Given the description of an element on the screen output the (x, y) to click on. 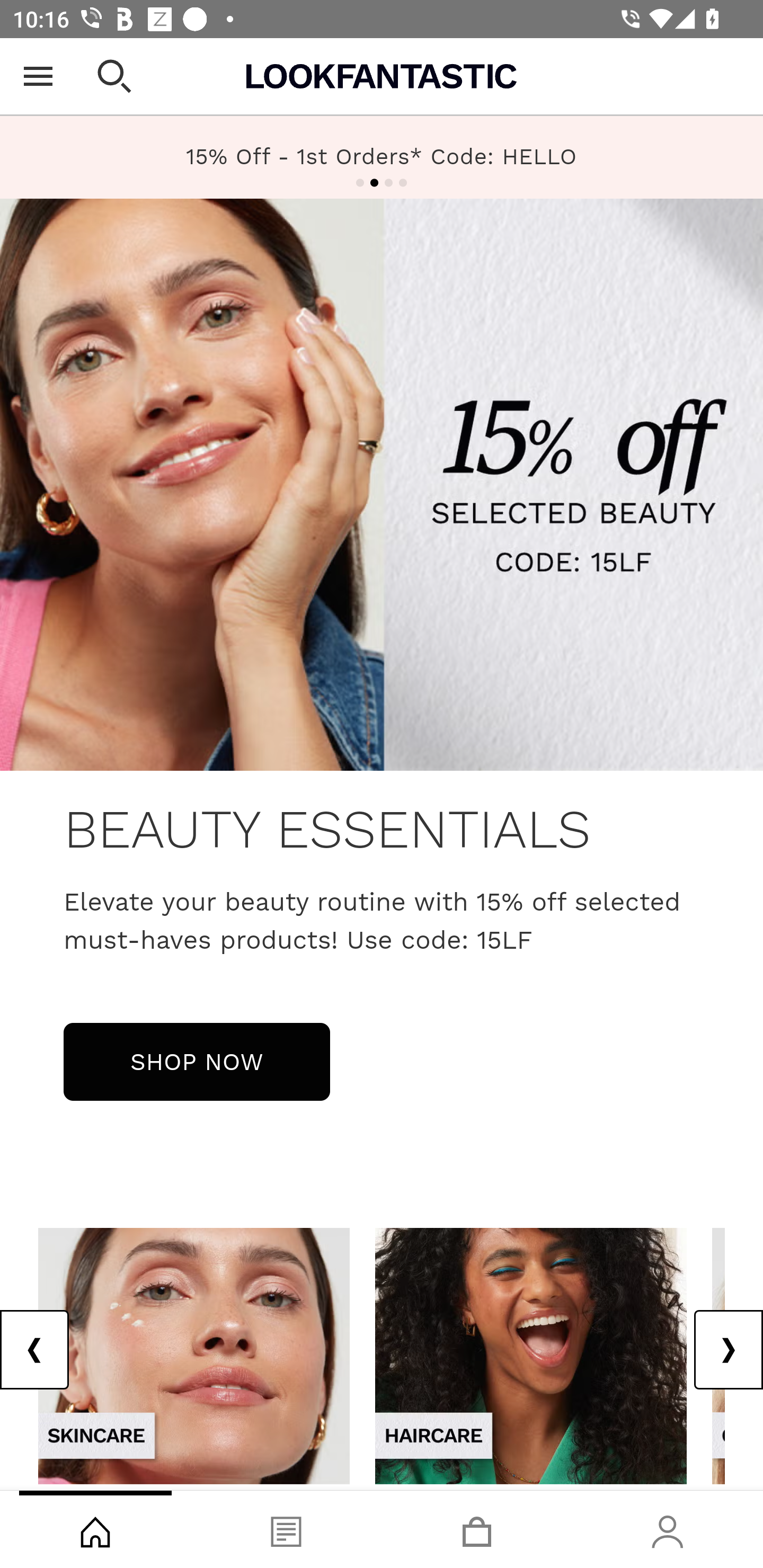
Open Menu (38, 75)
Open search (114, 75)
Lookfantastic USA (381, 75)
SHOP NOW (196, 1061)
view-all (193, 1355)
view-all (530, 1355)
Previous (35, 1349)
Next (727, 1349)
Shop, tab, 1 of 4 (95, 1529)
Blog, tab, 2 of 4 (285, 1529)
Basket, tab, 3 of 4 (476, 1529)
Account, tab, 4 of 4 (667, 1529)
